Given the description of an element on the screen output the (x, y) to click on. 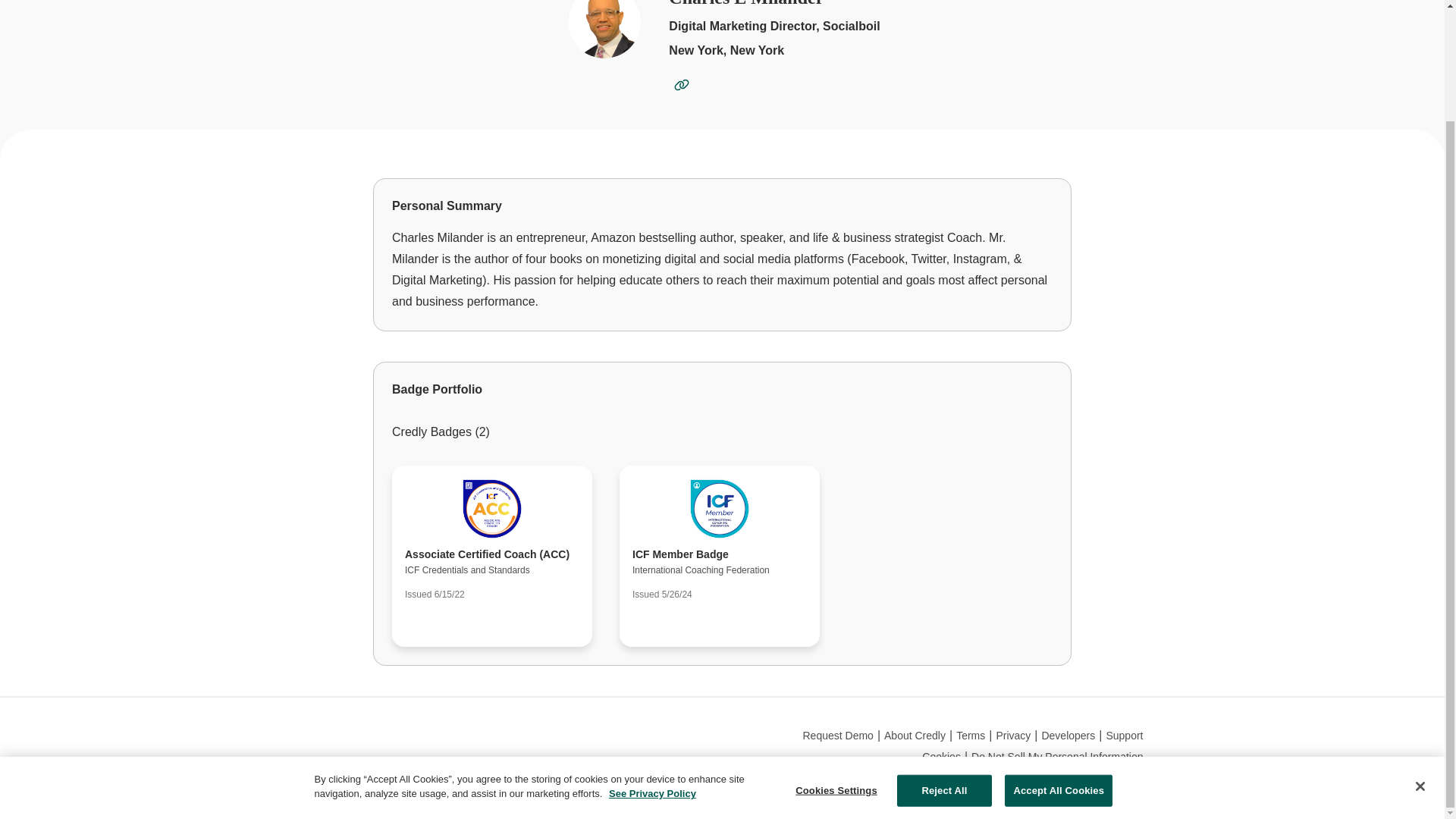
See Privacy Policy (651, 662)
Cookies Settings (836, 659)
Accept All Cookies (1058, 659)
Privacy (1012, 735)
Developers (1067, 735)
Do Not Sell My Personal Information (1056, 756)
About Credly (913, 735)
Request Demo (837, 735)
Cookies (940, 756)
Reject All (943, 659)
